Given the description of an element on the screen output the (x, y) to click on. 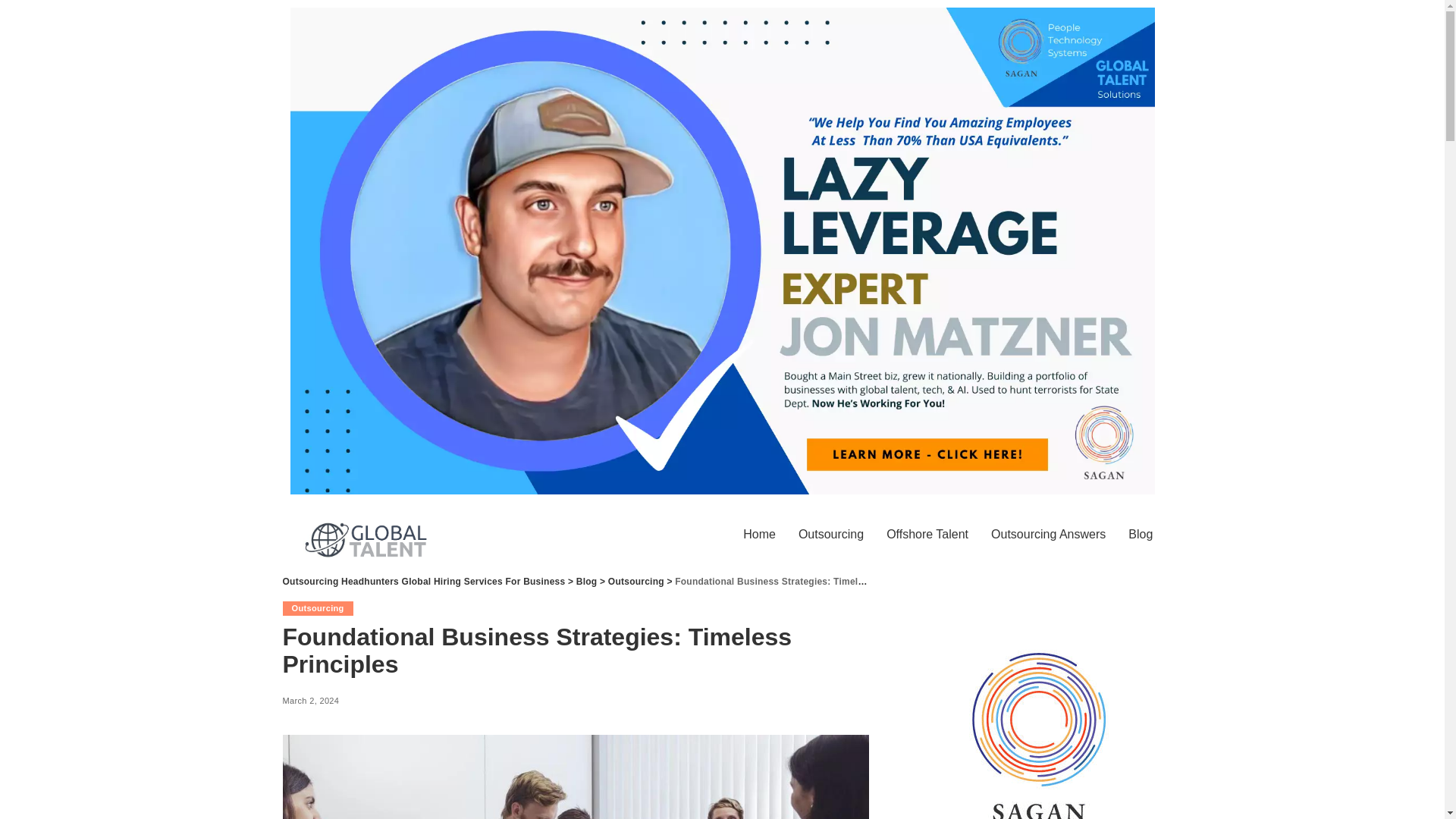
Outsourcing (317, 607)
Outsourcing Answers (1047, 534)
Blog (586, 581)
Go to Blog. (586, 581)
Go to the Outsourcing Category archives. (635, 581)
Outsourcing Headhunters Global Hiring Services For Business (423, 581)
Blog (1139, 534)
Offshore Talent (927, 534)
2024-03-02T00:47:00-05:00 (310, 700)
Home (759, 534)
Outsourcing (831, 534)
Outsourcing (635, 581)
